Given the description of an element on the screen output the (x, y) to click on. 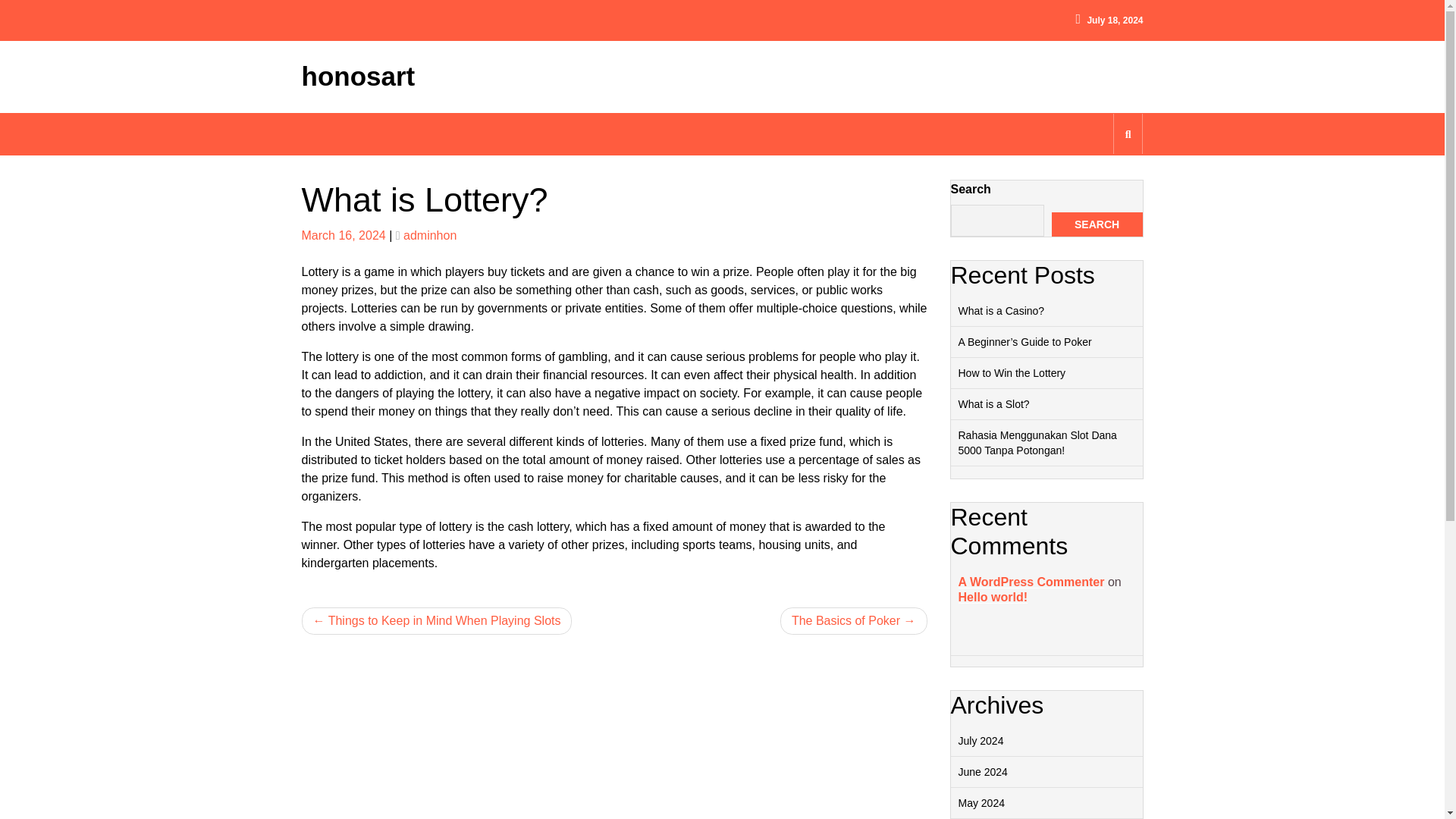
June 2024 (982, 771)
Rahasia Menggunakan Slot Dana 5000 Tanpa Potongan! (1037, 442)
adminhon (430, 235)
A WordPress Commenter (1031, 581)
SEARCH (1096, 224)
July 2024 (981, 740)
Hello world! (992, 596)
May 2024 (981, 802)
What is a Slot? (993, 404)
The Basics of Poker (853, 619)
How to Win the Lottery (1011, 372)
March 16, 2024 (343, 235)
What is a Casino? (1001, 310)
Things to Keep in Mind When Playing Slots (436, 619)
honosart (357, 75)
